Given the description of an element on the screen output the (x, y) to click on. 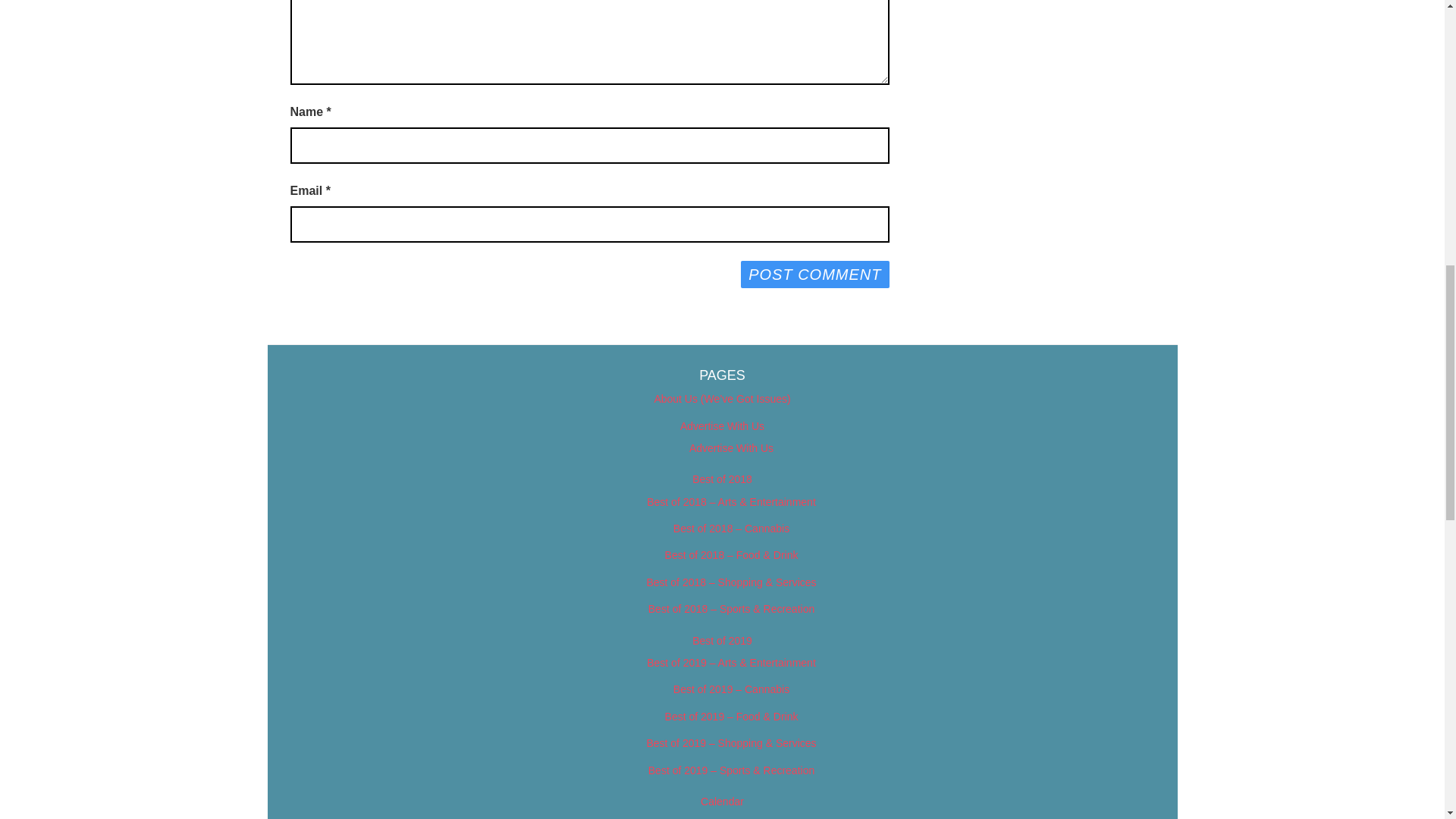
Post Comment (814, 274)
